Given the description of an element on the screen output the (x, y) to click on. 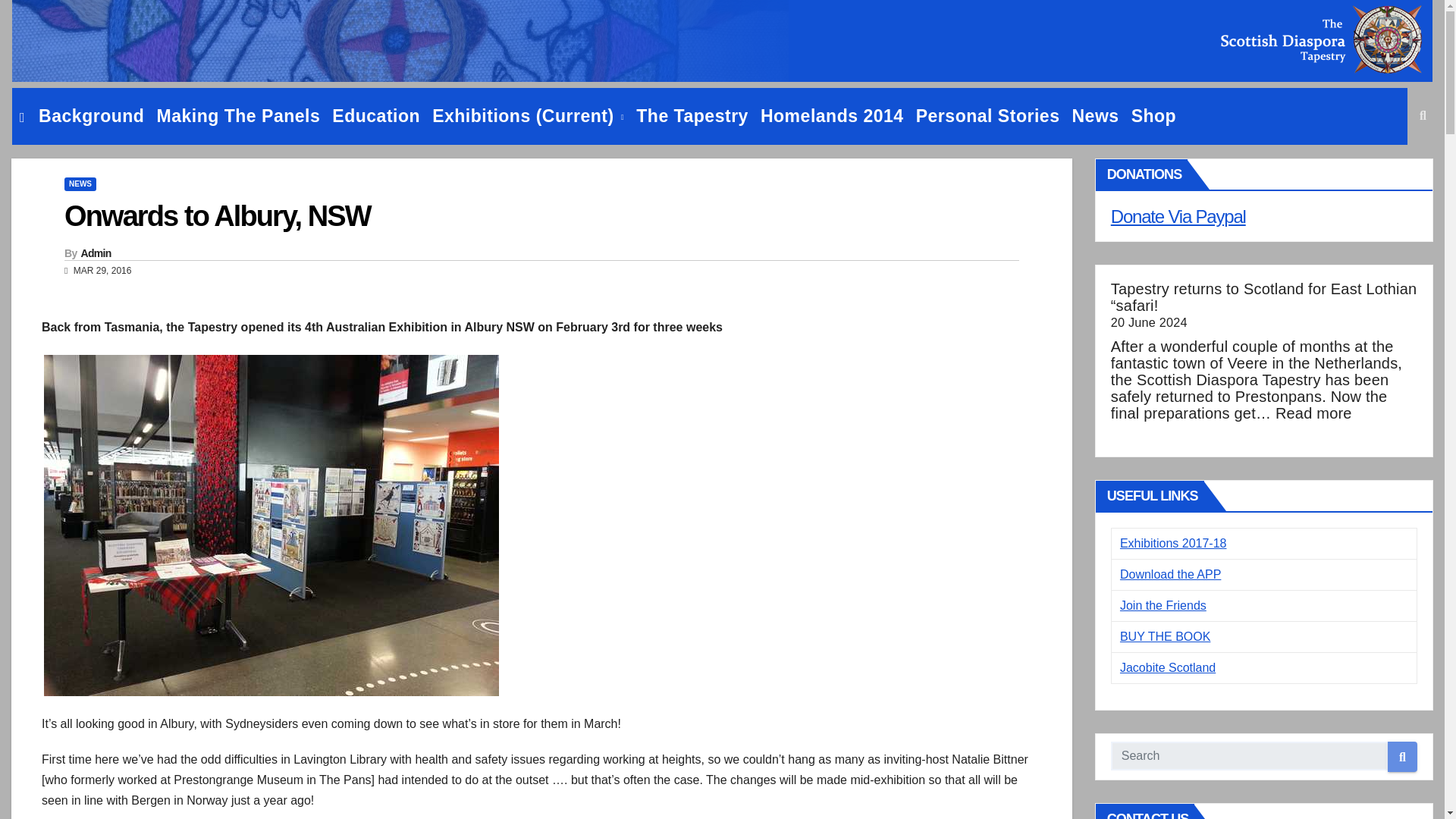
The Tapestry (692, 115)
Admin (95, 253)
Making The Panels (237, 115)
Making The Panels (237, 115)
Permalink to: Onwards to Albury, NSW (217, 215)
Background (90, 115)
Personal Stories (987, 115)
The Tapestry (692, 115)
Onwards to Albury, NSW (217, 215)
News (1094, 115)
